Given the description of an element on the screen output the (x, y) to click on. 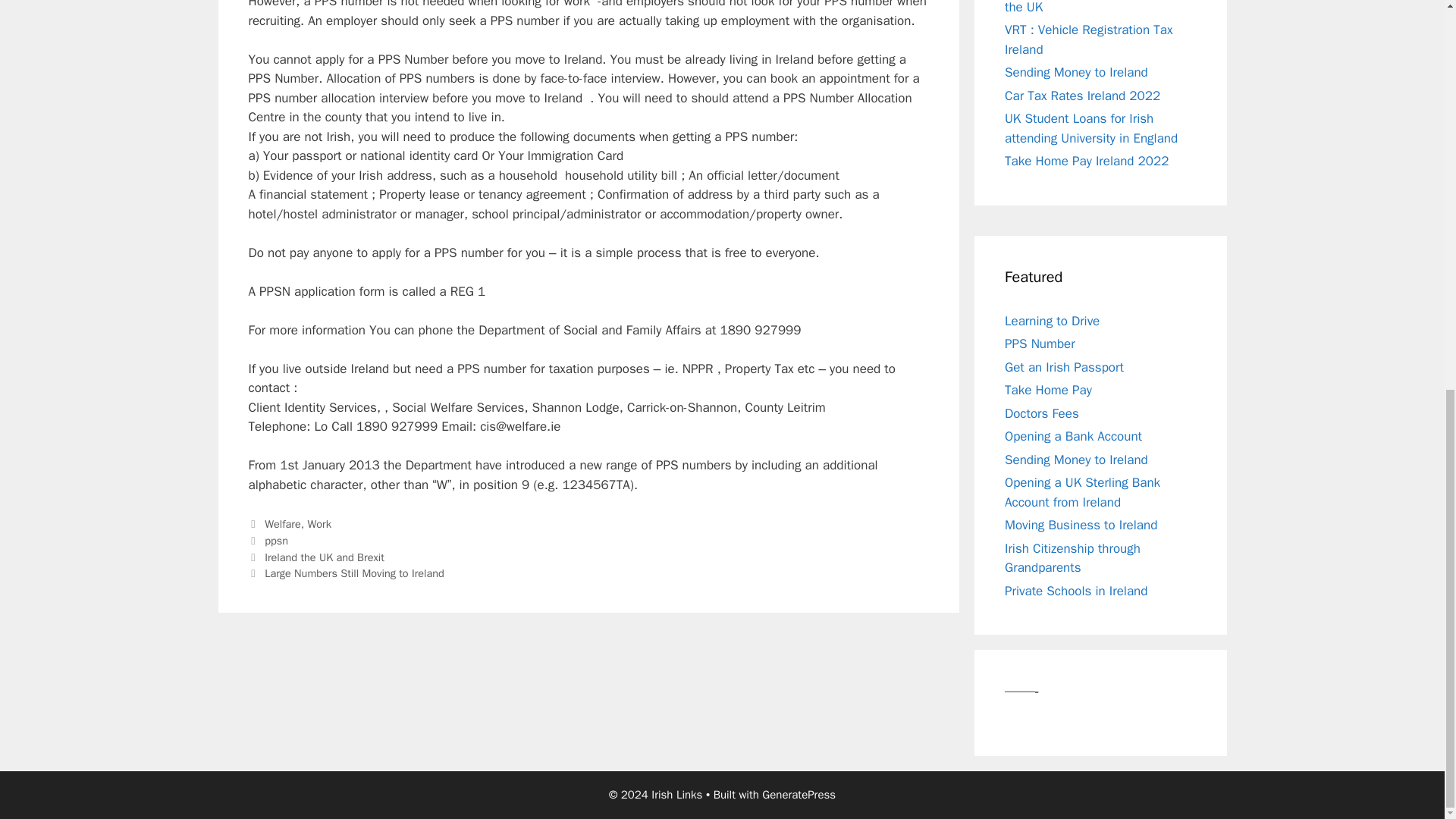
Get an Irish Passport (1064, 366)
Next (346, 572)
ppsn (276, 540)
Doctors Fees (1041, 413)
Learning to Drive (1051, 320)
Sending Money to Ireland (1076, 72)
UK Student Loans for Irish attending University in England (1090, 128)
Take Home Pay Ireland 2022 (1086, 160)
Previous (316, 557)
Take Home Pay (1048, 390)
PPS Number (1039, 343)
VRT : Vehicle Registration Tax Ireland (1088, 39)
Welfare (282, 523)
Car Tax Rates Ireland 2022 (1082, 94)
Ireland the UK and Brexit (324, 557)
